Given the description of an element on the screen output the (x, y) to click on. 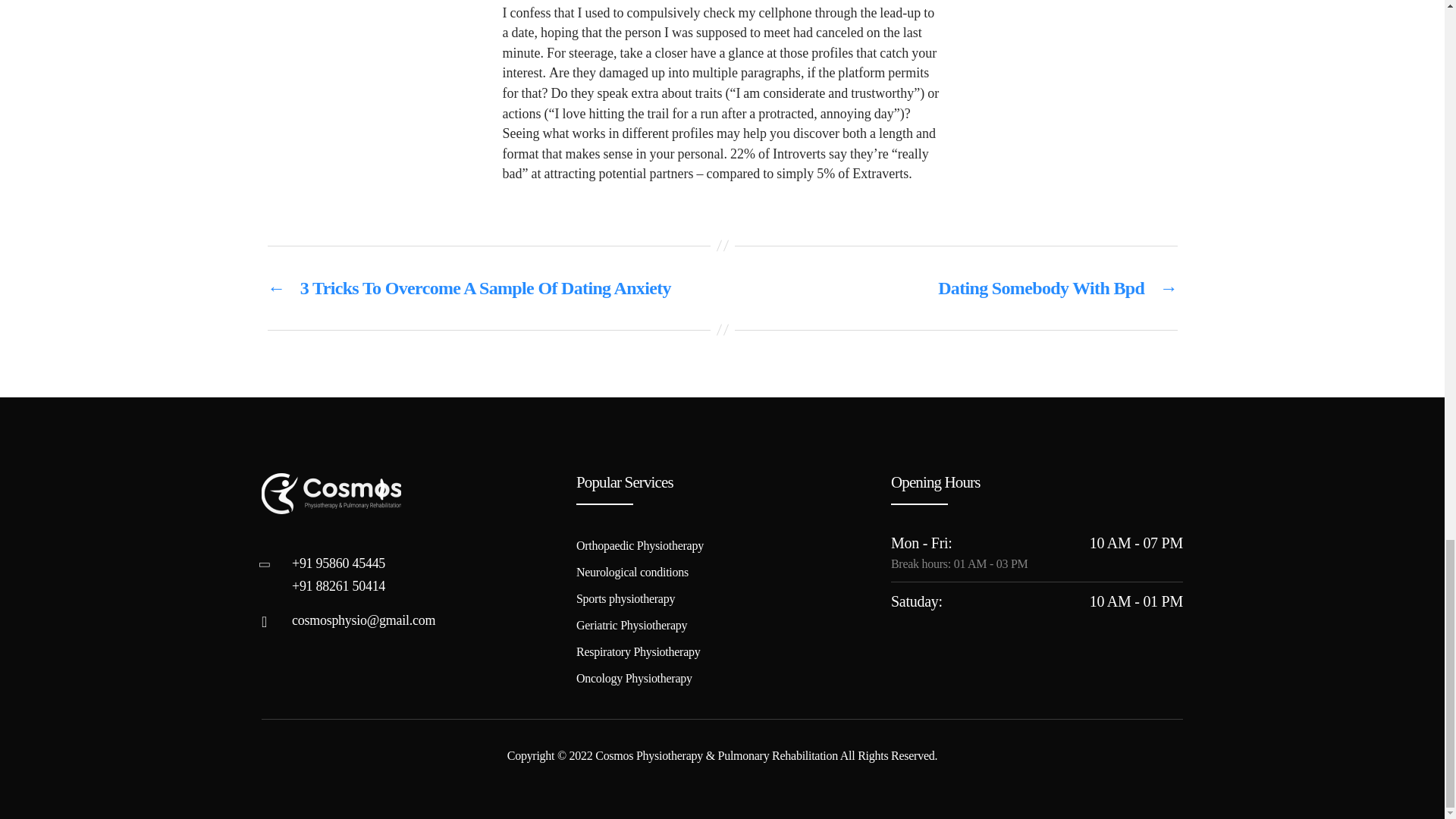
Orthopaedic Physiotherapy (639, 545)
Sports physiotherapy (625, 598)
Geriatric Physiotherapy (631, 625)
Neurological conditions (632, 571)
Oncology Physiotherapy (634, 677)
Respiratory Physiotherapy (638, 651)
